Given the description of an element on the screen output the (x, y) to click on. 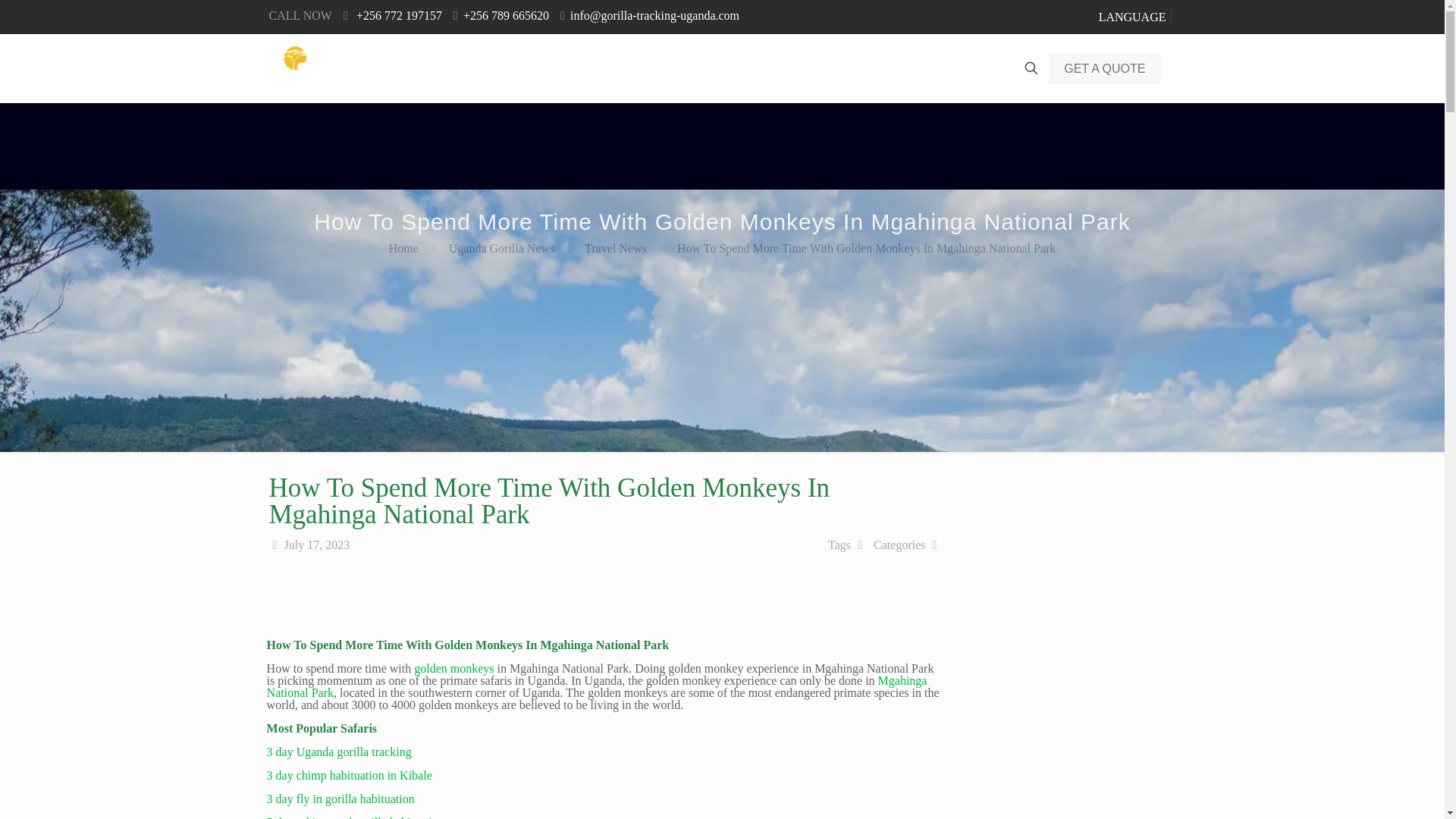
Gorilla Safaris (585, 68)
Home (500, 68)
LANGUAGE (1132, 16)
